Given the description of an element on the screen output the (x, y) to click on. 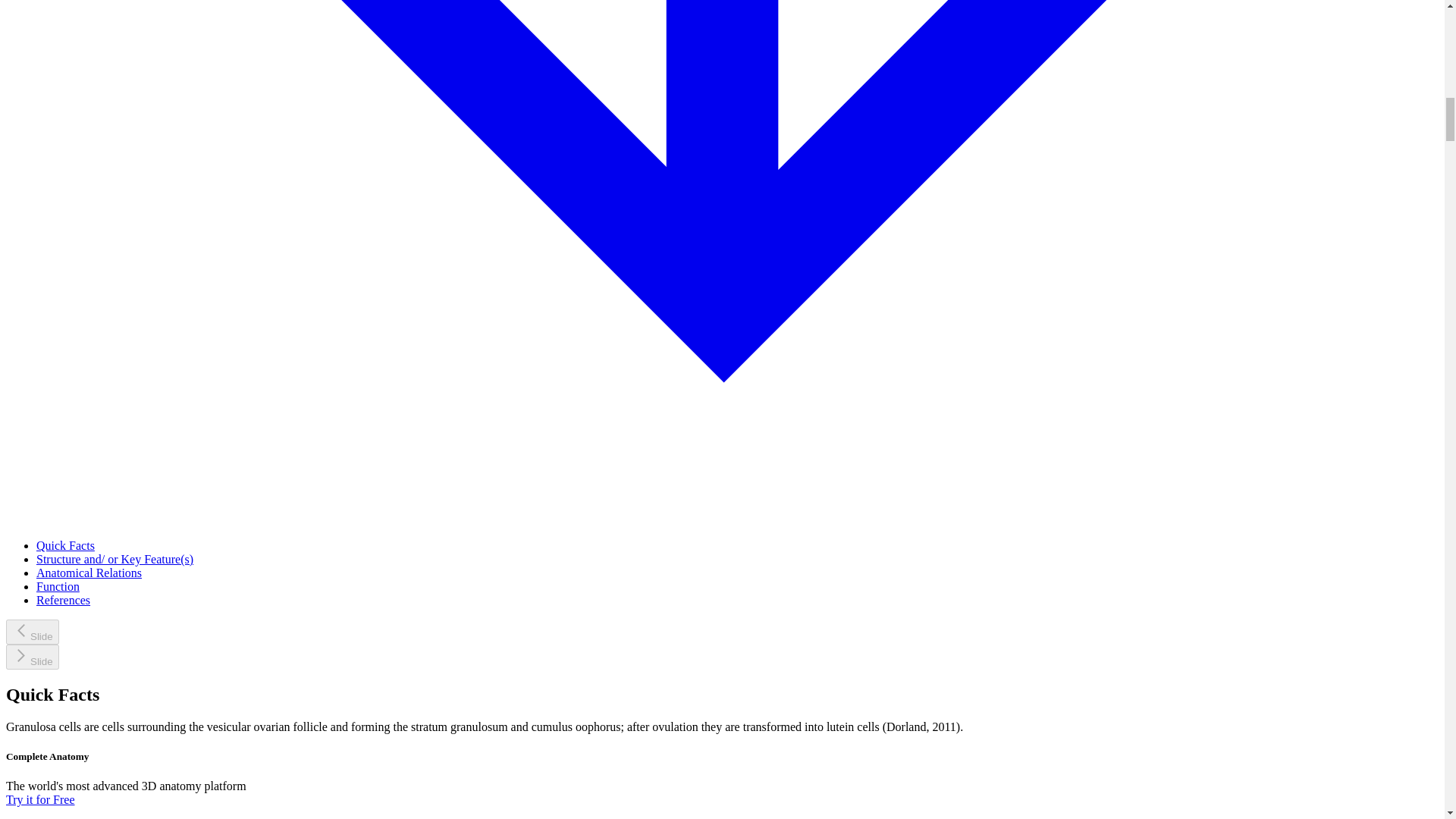
Slide (32, 656)
Slide (32, 631)
Function (58, 585)
Anatomical Relations (88, 572)
References (63, 599)
Quick Facts (65, 545)
